Given the description of an element on the screen output the (x, y) to click on. 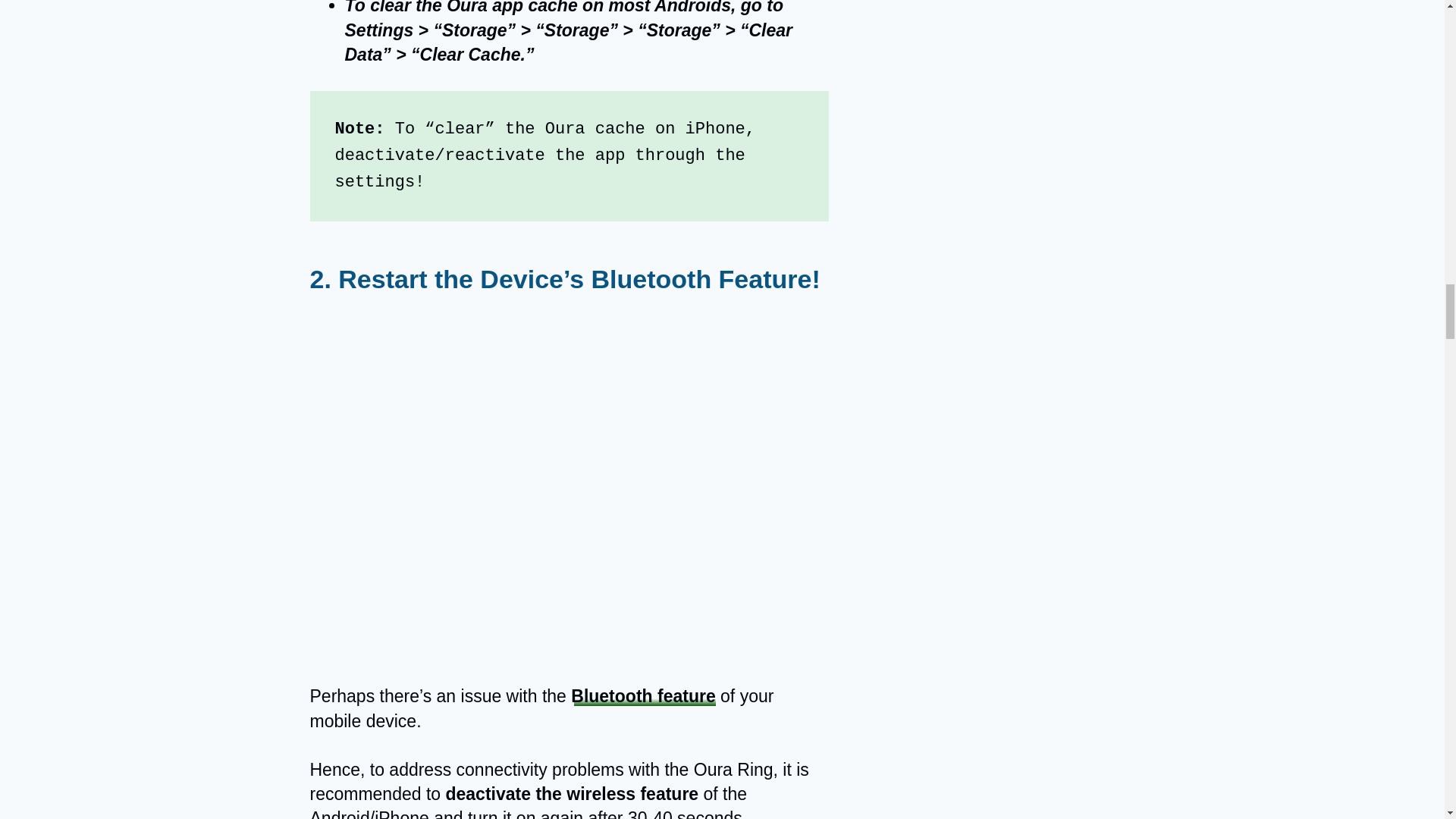
Bluetooth feature (642, 695)
